Given the description of an element on the screen output the (x, y) to click on. 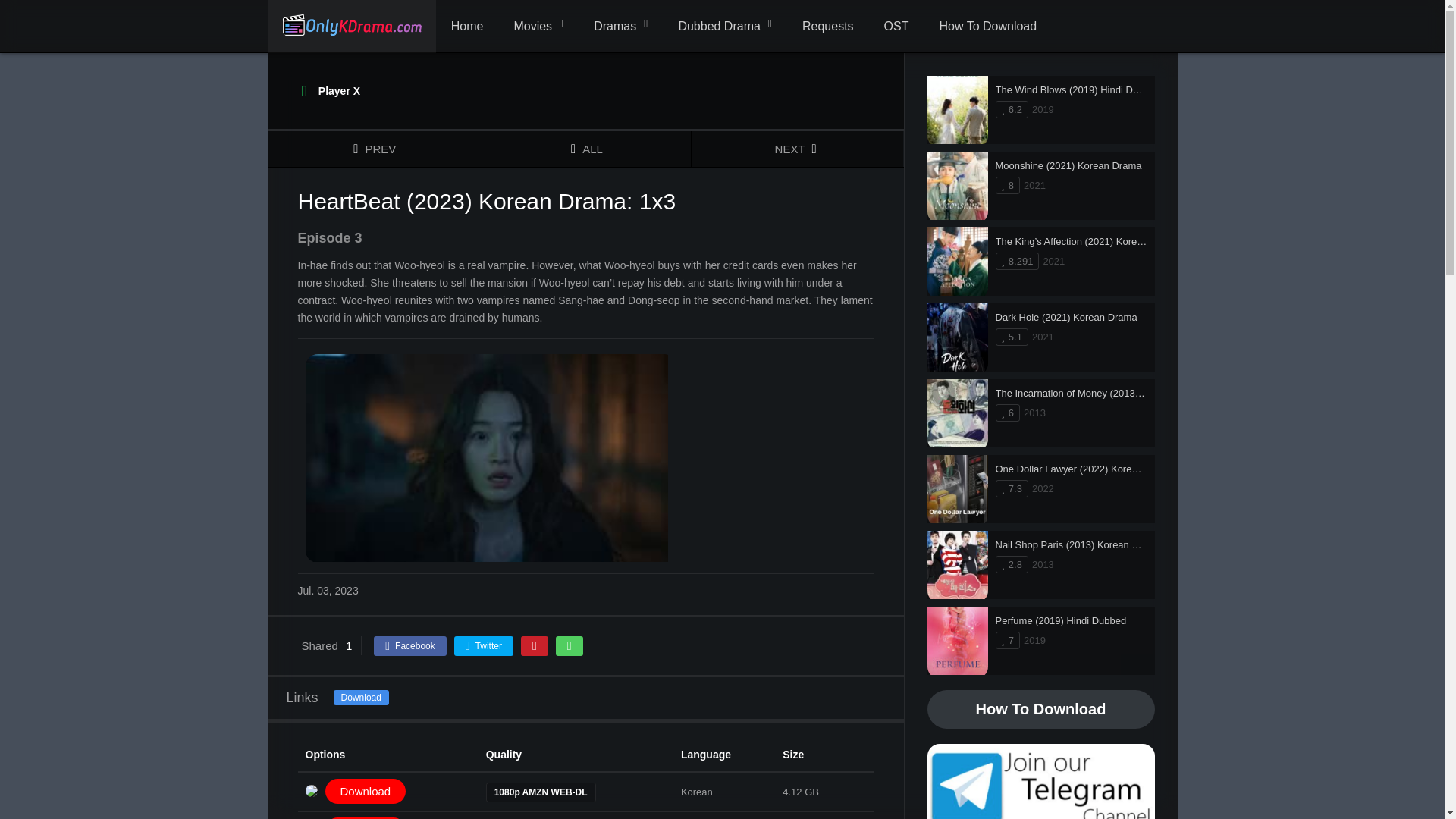
Movies (537, 26)
Dubbed Drama (724, 26)
OST (896, 26)
Home (467, 26)
Dramas (620, 26)
Requests (828, 26)
How To Download (987, 26)
